Given the description of an element on the screen output the (x, y) to click on. 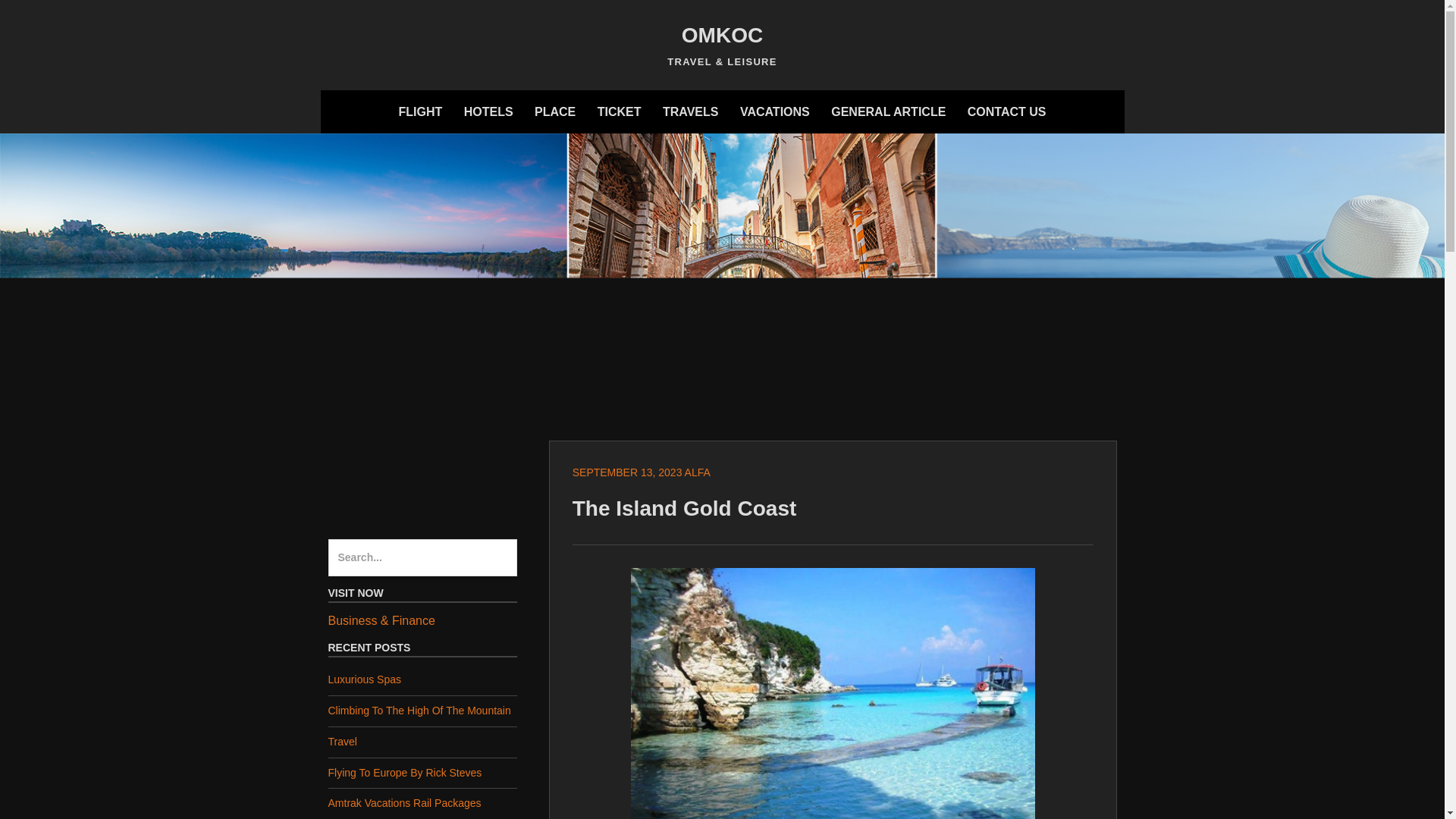
ALFA (697, 472)
HOTELS (488, 111)
CONTACT US (1006, 111)
Search for: (421, 557)
TRAVELS (689, 111)
TICKET (619, 111)
Search (44, 18)
VACATIONS (774, 111)
GENERAL ARTICLE (888, 111)
